Given the description of an element on the screen output the (x, y) to click on. 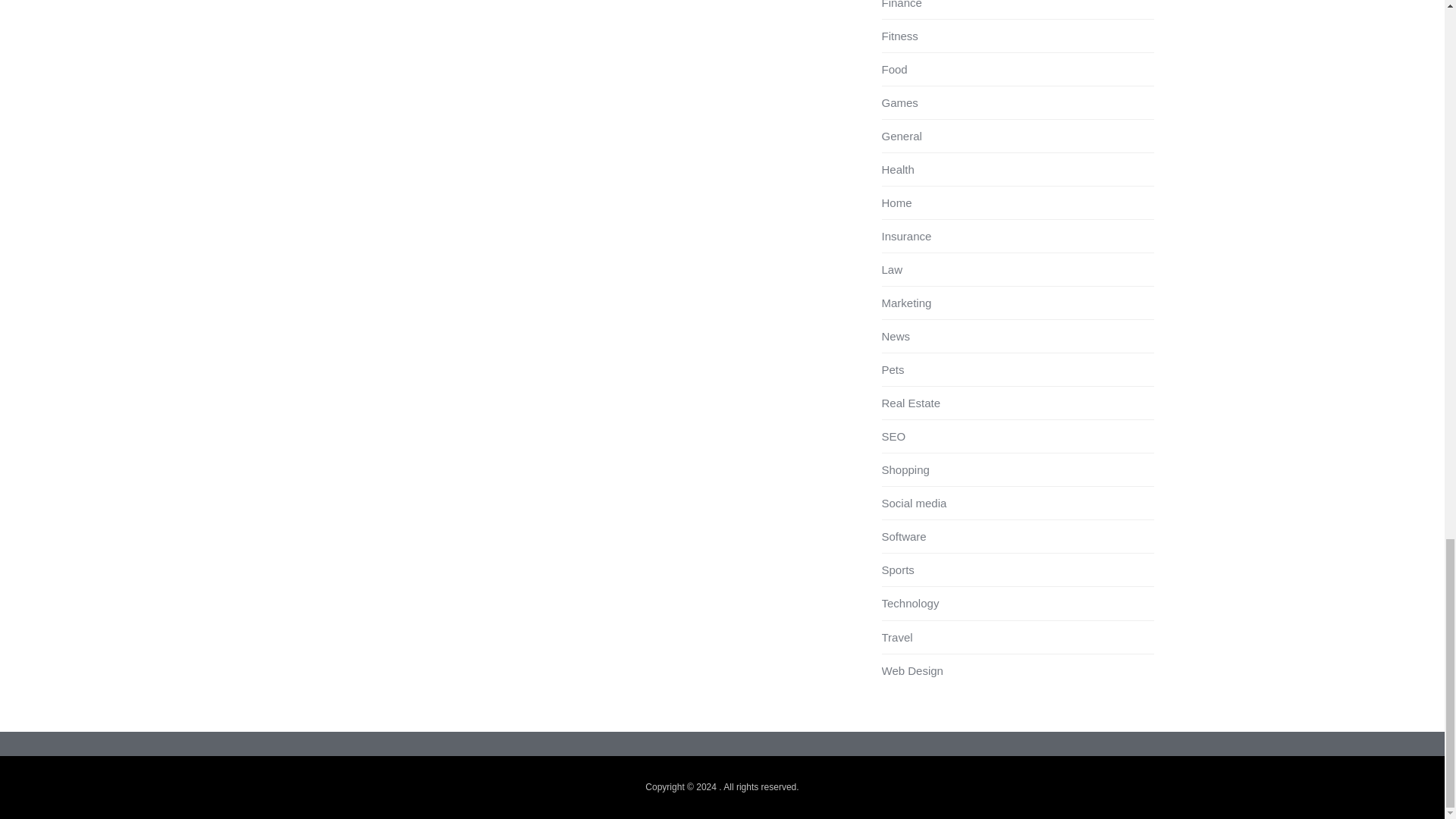
Insurance (905, 236)
Games (898, 102)
Marketing (905, 302)
Home (895, 202)
News (895, 336)
General (900, 135)
Health (897, 169)
Fitness (898, 35)
Law (891, 269)
Food (893, 69)
